Given the description of an element on the screen output the (x, y) to click on. 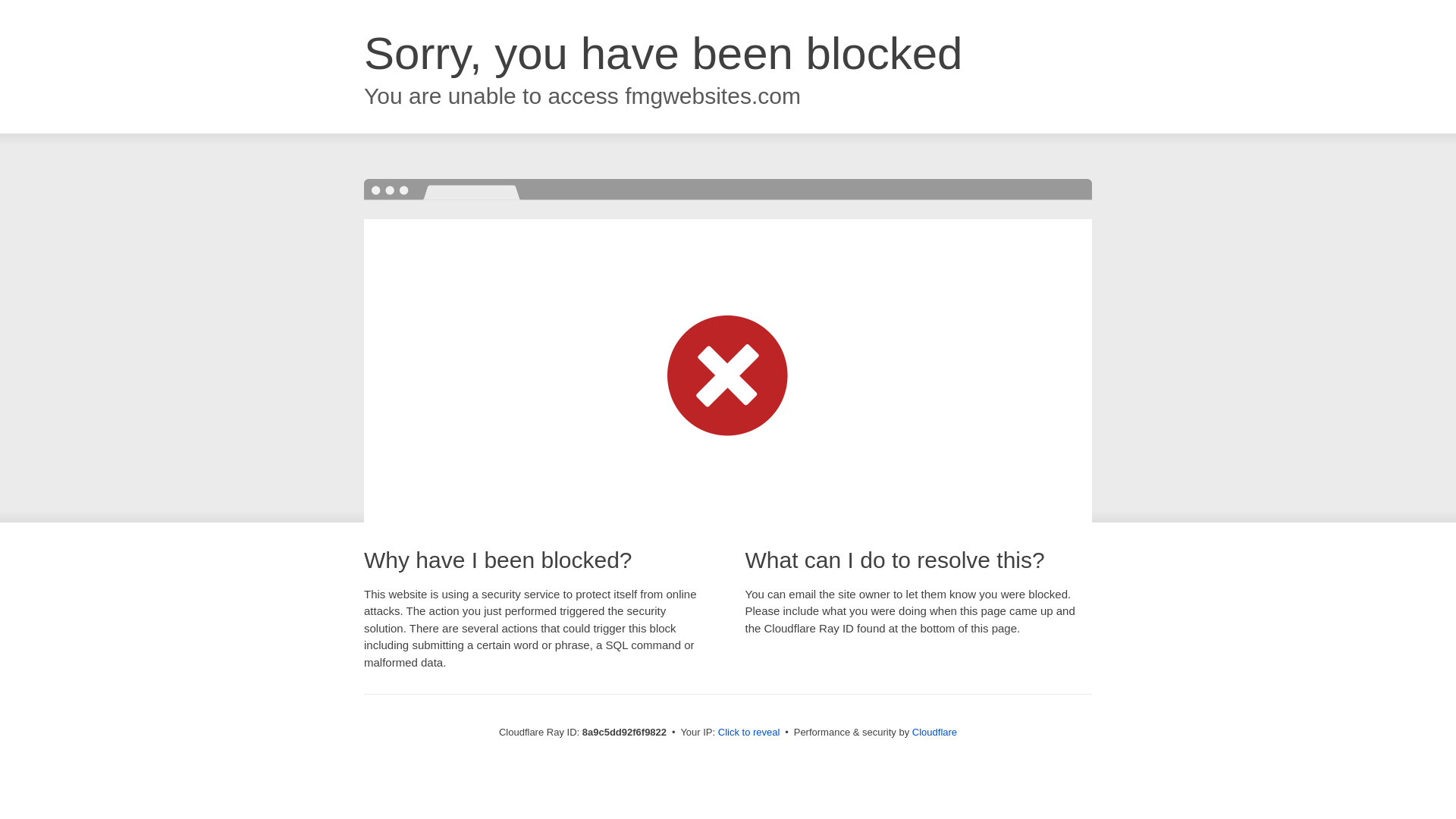
Cloudflare (934, 731)
Click to reveal (748, 732)
